Given the description of an element on the screen output the (x, y) to click on. 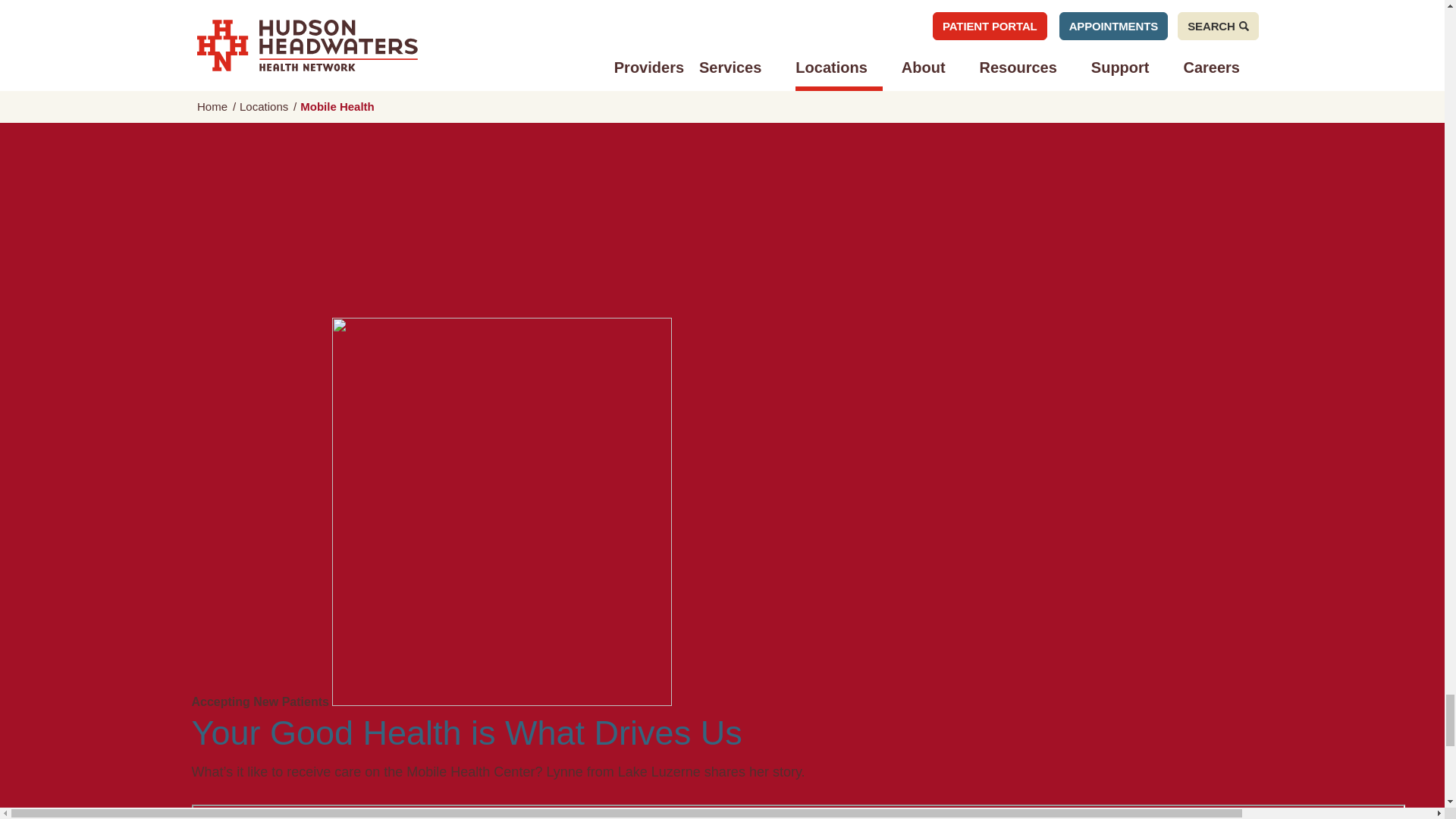
Video:  (797, 811)
